Given the description of an element on the screen output the (x, y) to click on. 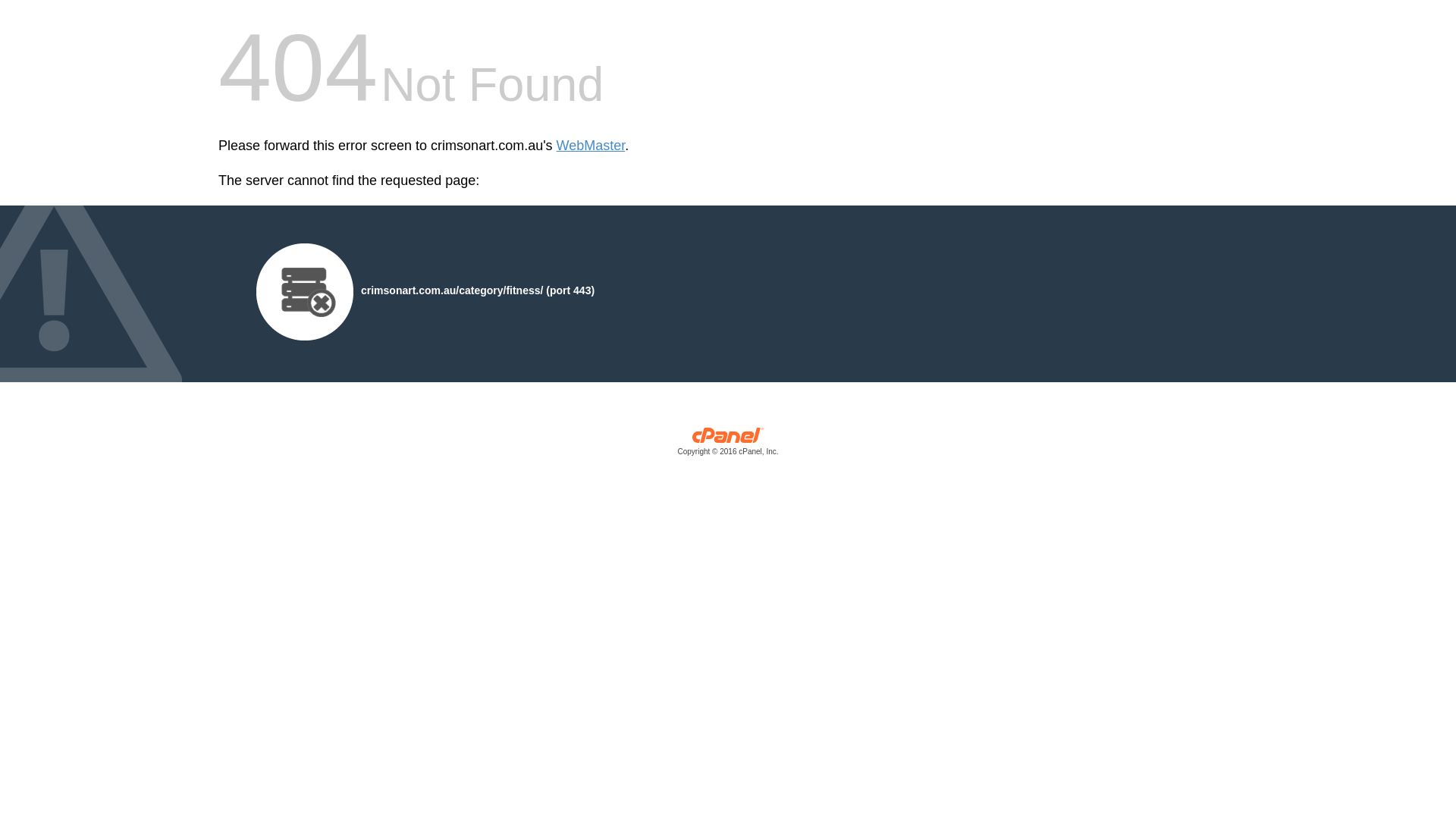
WebMaster Element type: text (590, 145)
